Given the description of an element on the screen output the (x, y) to click on. 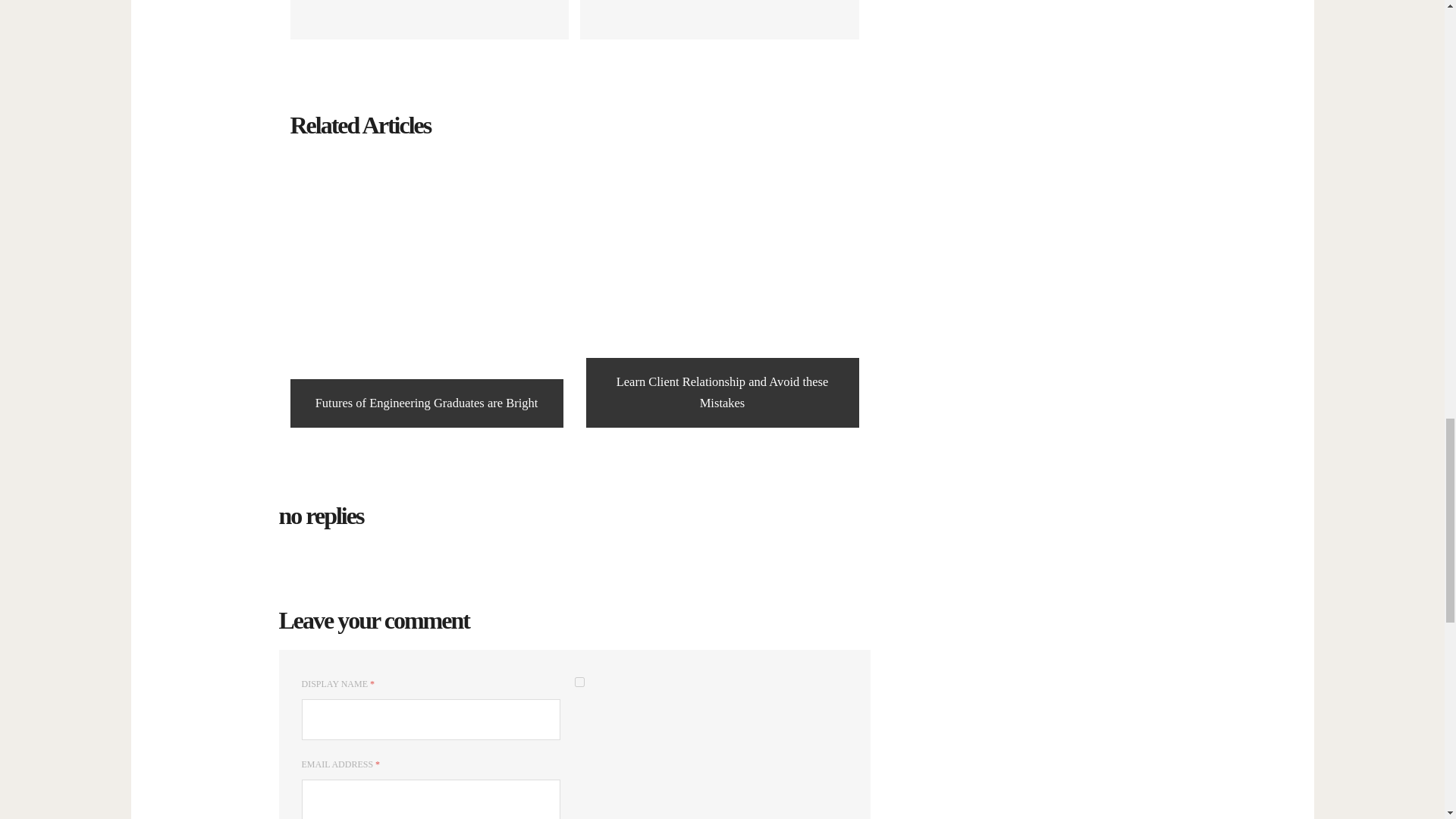
Futures of Engineering Graduates are Bright (425, 290)
Futures of Engineering Graduates are Bright (429, 19)
yes (719, 19)
Learn Client Relationship and Avoid these Mistakes (425, 290)
Learn Client Relationship and Avoid these Mistakes (580, 682)
